Given the description of an element on the screen output the (x, y) to click on. 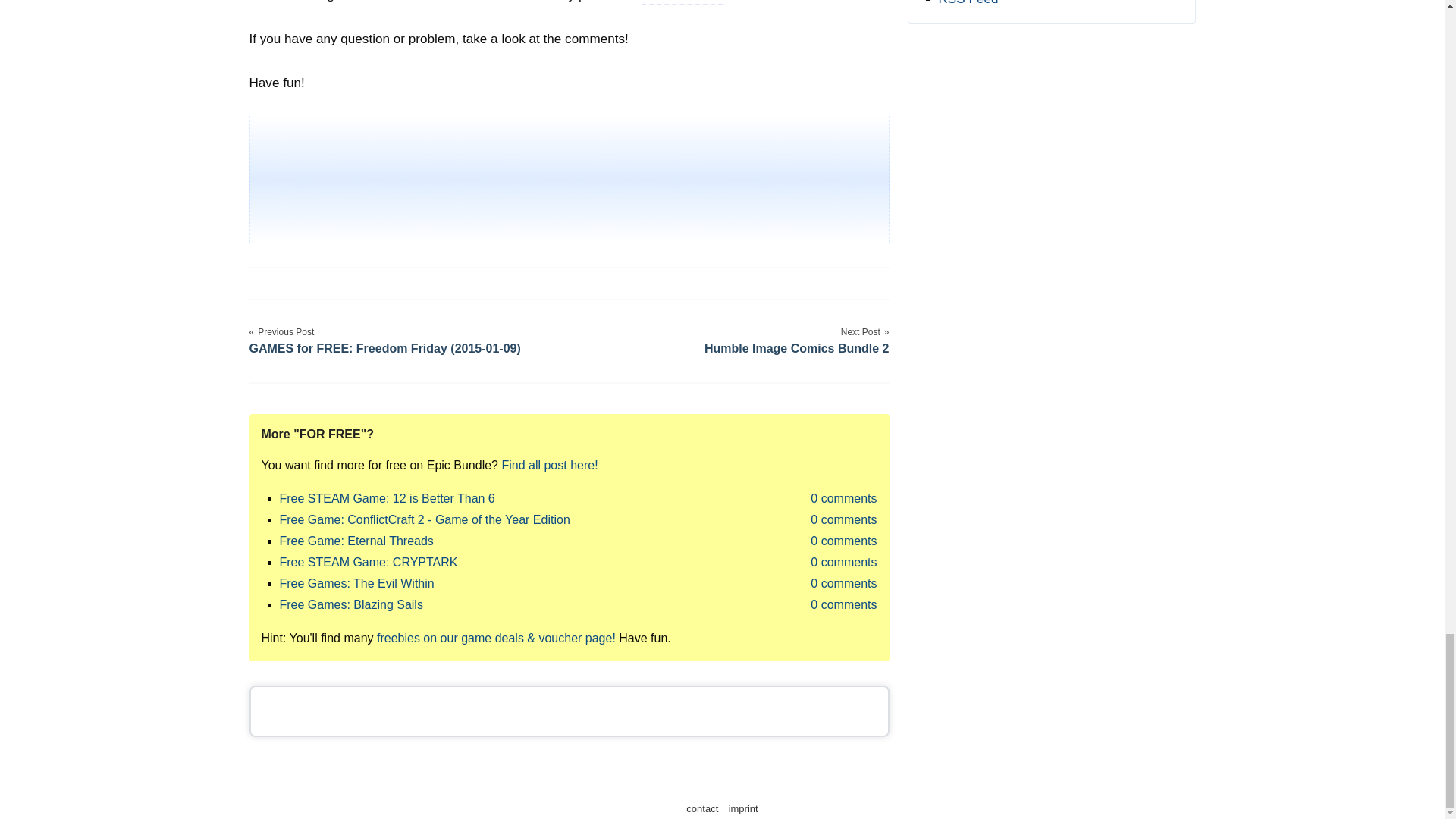
DOSBox wiki - List of DOSBox Frontends (682, 1)
